Given the description of an element on the screen output the (x, y) to click on. 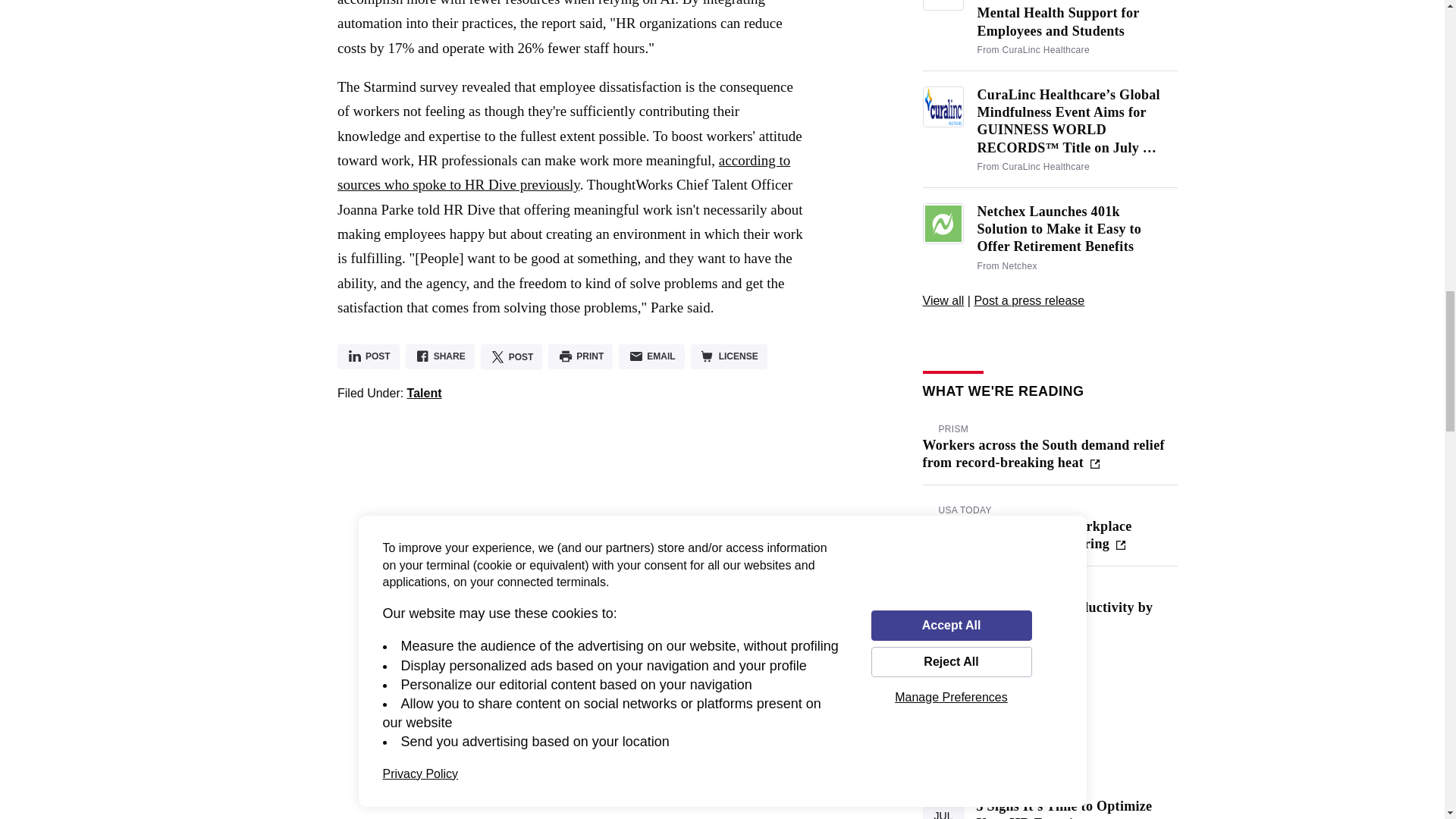
according to sources who spoke to HR Dive previously (563, 172)
